Given the description of an element on the screen output the (x, y) to click on. 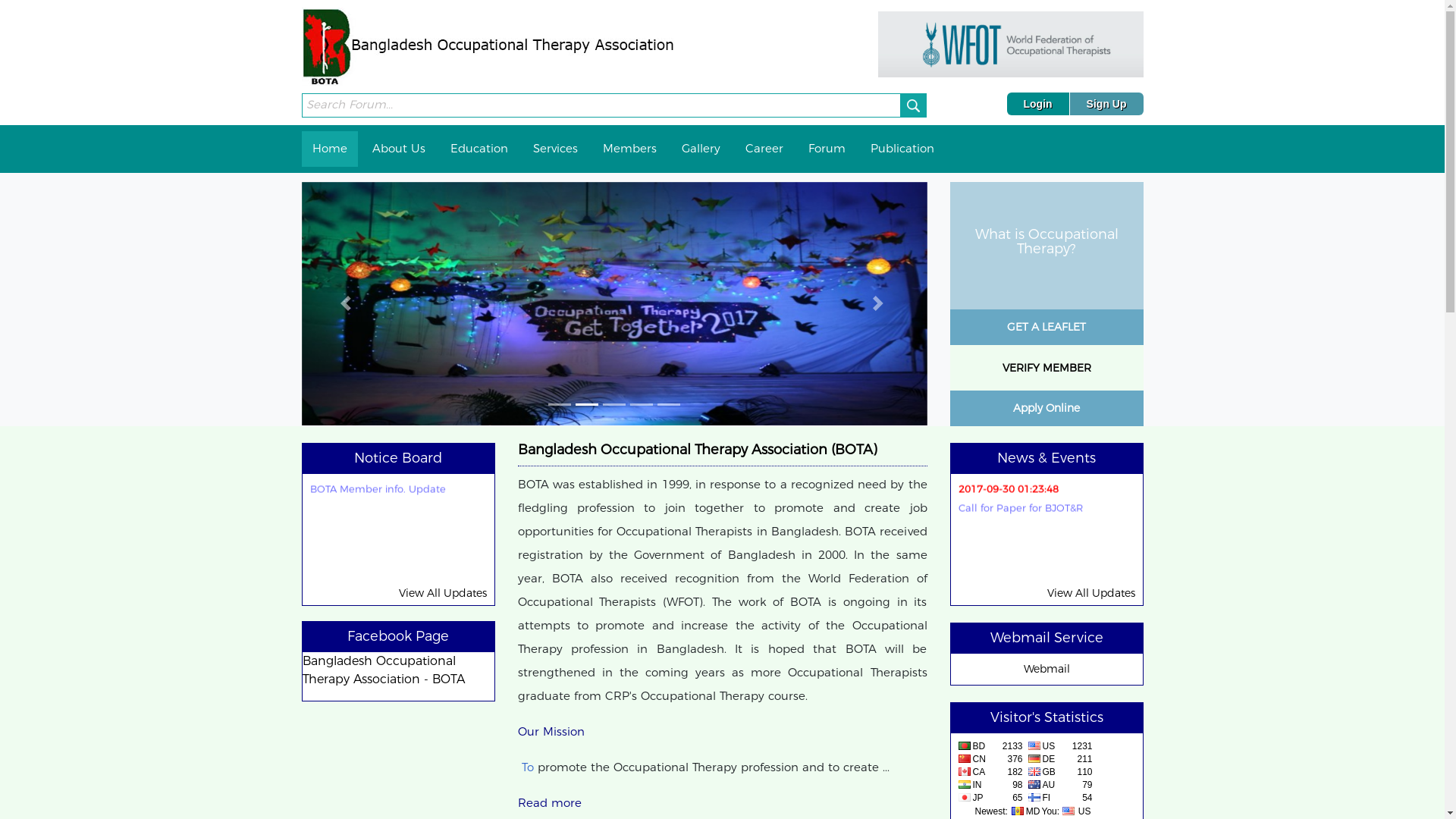
Bangladesh Occupational Therapy Association - BOTA Element type: text (382, 669)
Invitation for the "BOTA RETREAT PROGRAMME 2020" Element type: text (1037, 459)
Apply Online Element type: text (1045, 405)
Webmail Element type: text (1046, 668)
Home Element type: text (329, 148)
Publication Element type: text (901, 148)
BOTA Member info. Update Element type: text (377, 502)
Services Element type: text (554, 148)
Forum Element type: text (826, 148)
Read more Element type: text (548, 802)
GET A LEAFLET Element type: text (1045, 323)
View All Updates Element type: text (1090, 592)
Gallery Element type: text (700, 148)
Career Element type: text (763, 148)
View All Updates Element type: text (442, 592)
Previous Element type: text (348, 304)
Education Element type: text (478, 148)
Login Element type: text (1038, 103)
Sign Up Element type: text (1106, 103)
Notice for CPE training on Autism Element type: text (391, 452)
Members Element type: text (628, 148)
Call for Paper for BJOT&R Element type: text (1020, 519)
Next Element type: text (880, 304)
About Us Element type: text (397, 148)
